Given the description of an element on the screen output the (x, y) to click on. 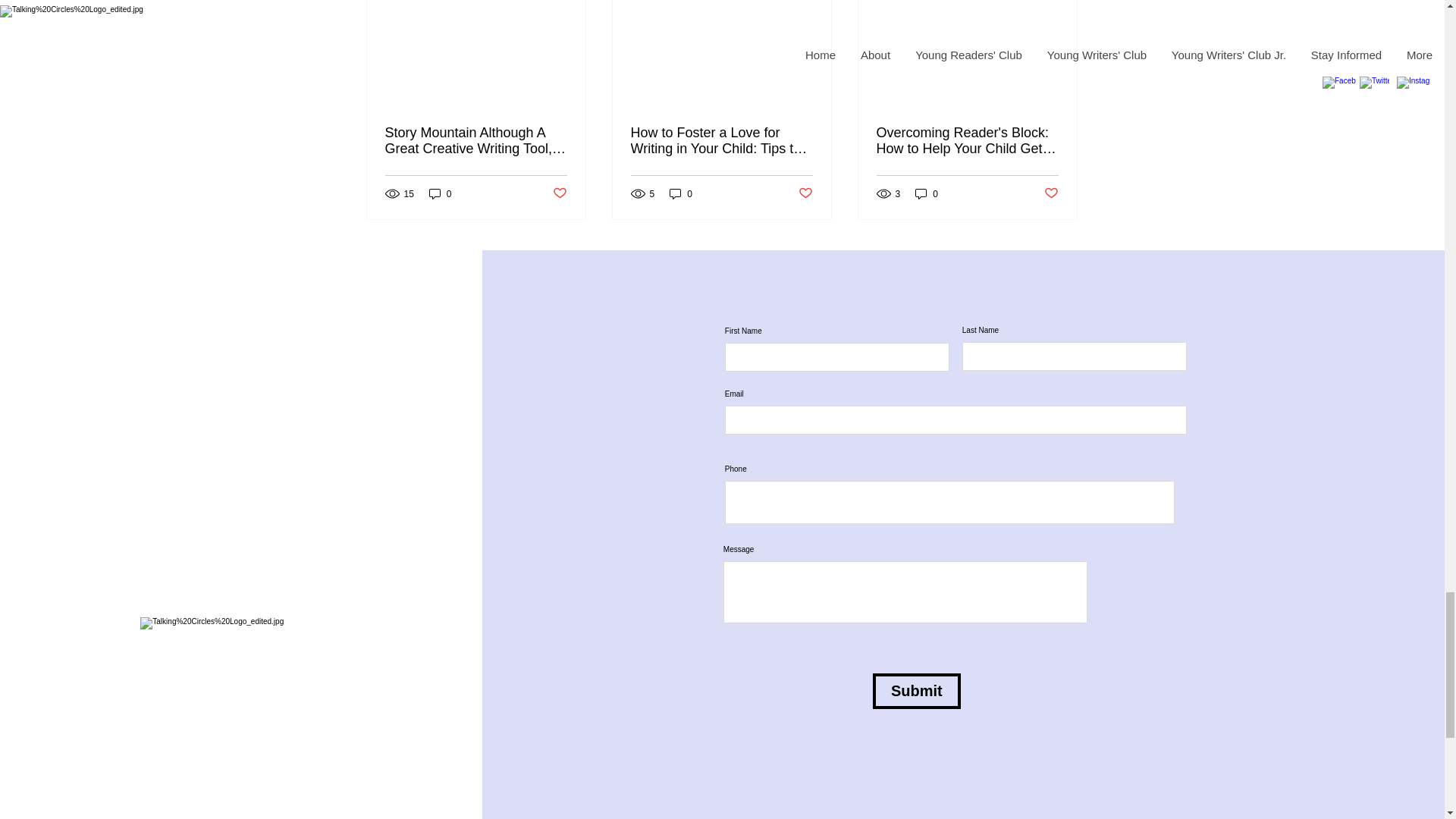
Post not marked as liked (558, 193)
0 (440, 193)
0 (681, 193)
